Given the description of an element on the screen output the (x, y) to click on. 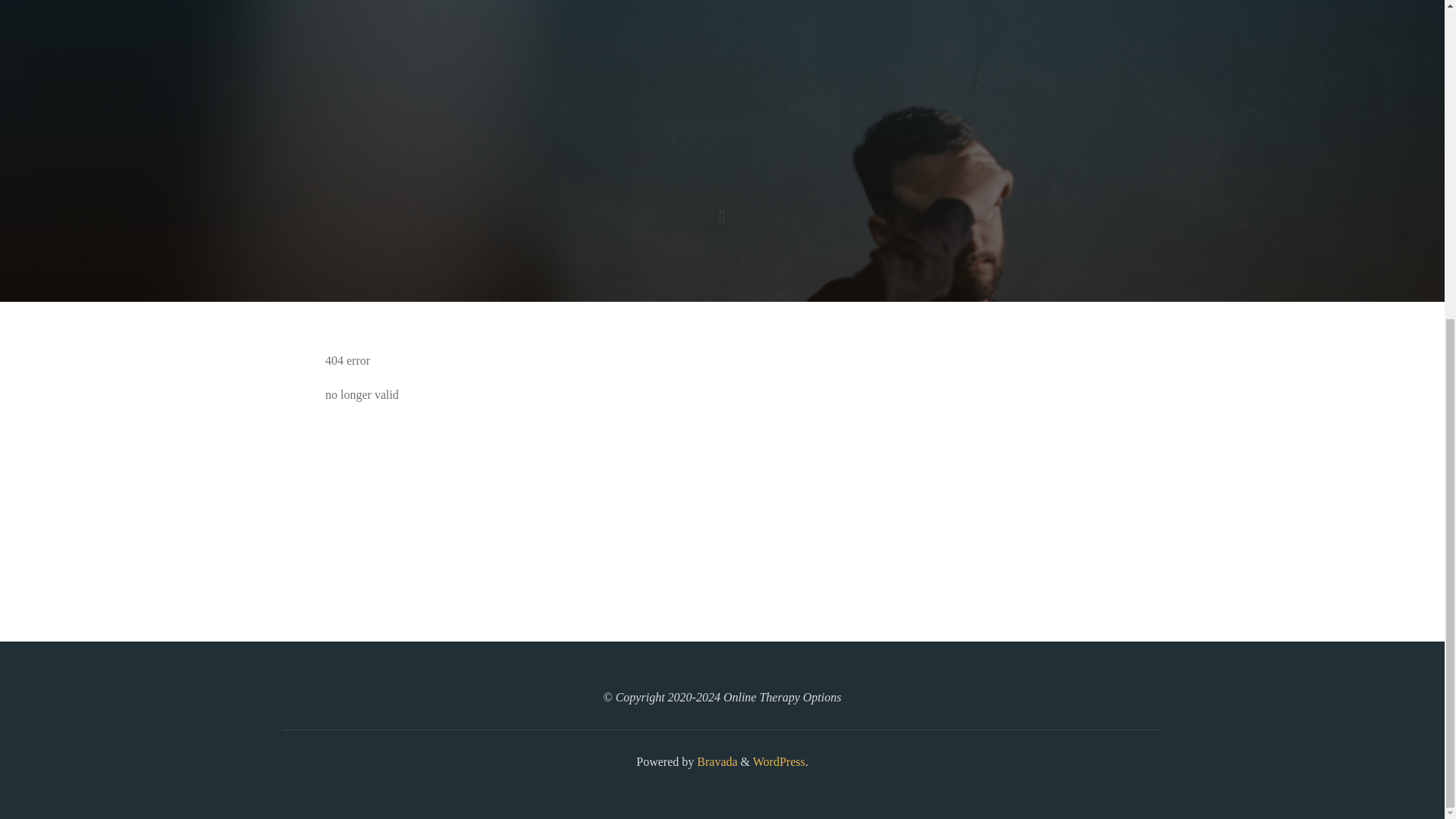
Bravada (715, 761)
Semantic Personal Publishing Platform (778, 761)
Read more (721, 207)
Bravada WordPress Theme by Cryout Creations (715, 761)
WordPress (778, 761)
